Given the description of an element on the screen output the (x, y) to click on. 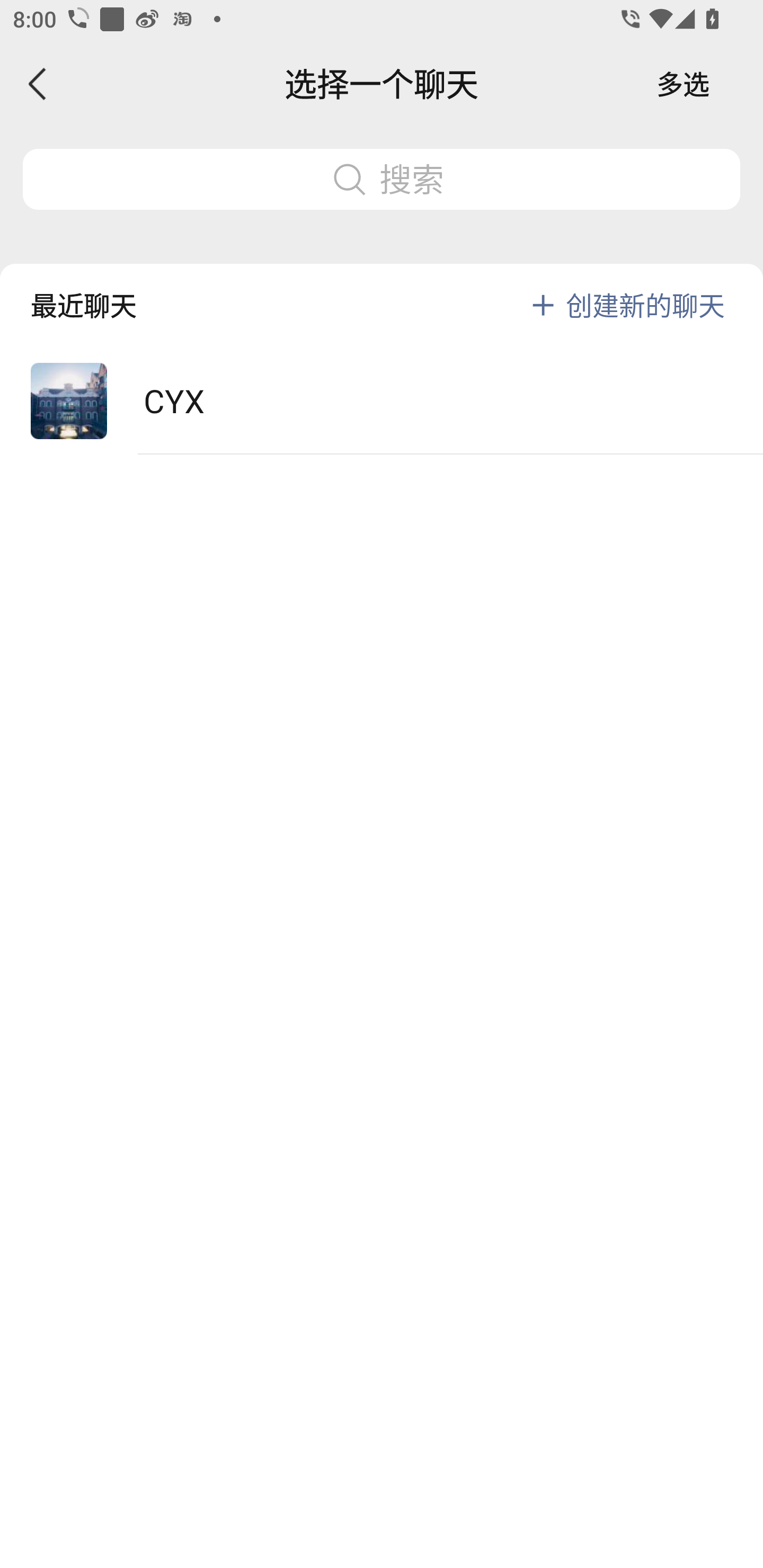
返回 (38, 83)
多选 (683, 83)
最近聊天 创建新的聊天 (381, 290)
创建新的聊天 (645, 304)
CYX (381, 401)
